Given the description of an element on the screen output the (x, y) to click on. 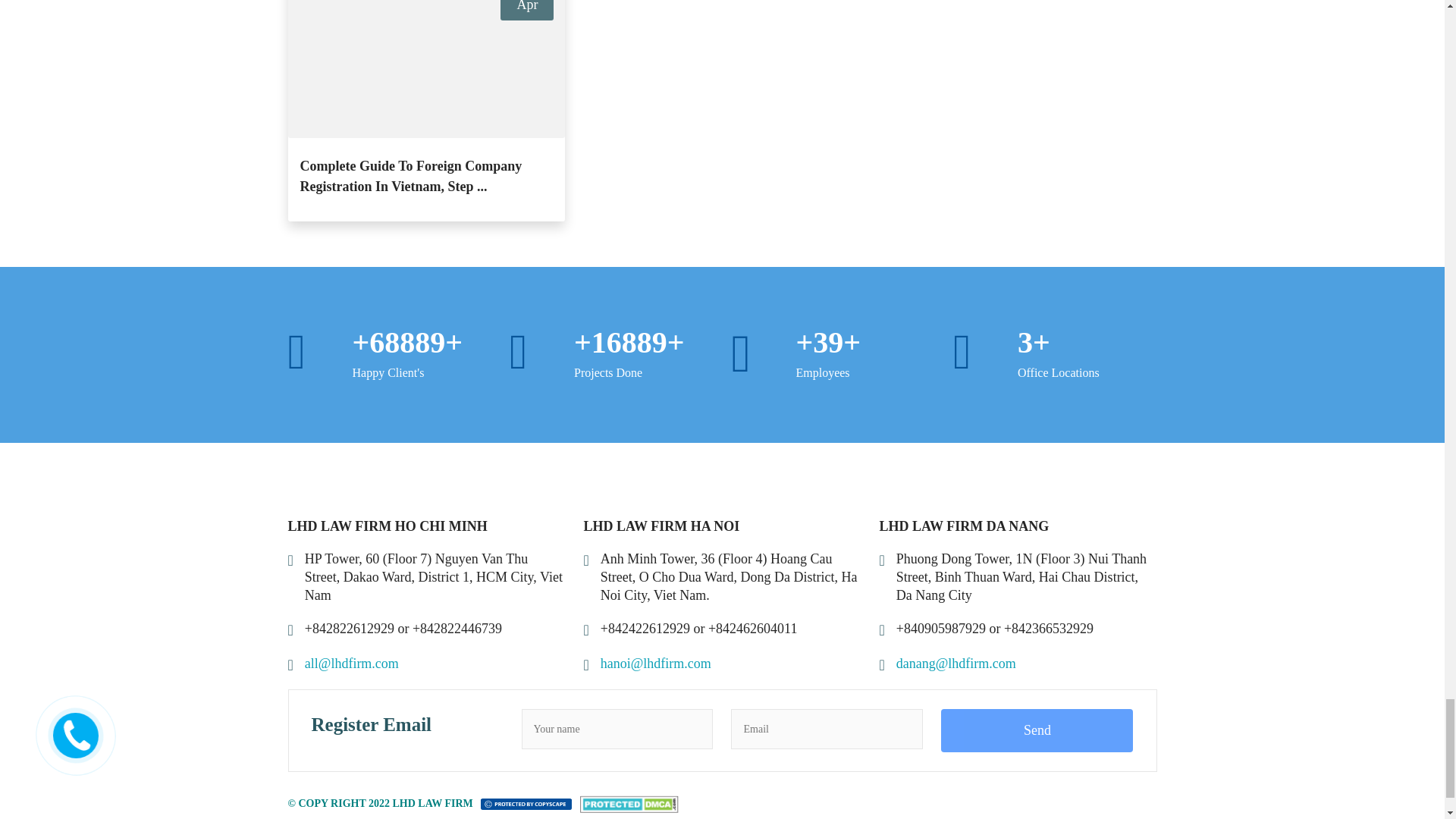
copyscape (526, 803)
